Given the description of an element on the screen output the (x, y) to click on. 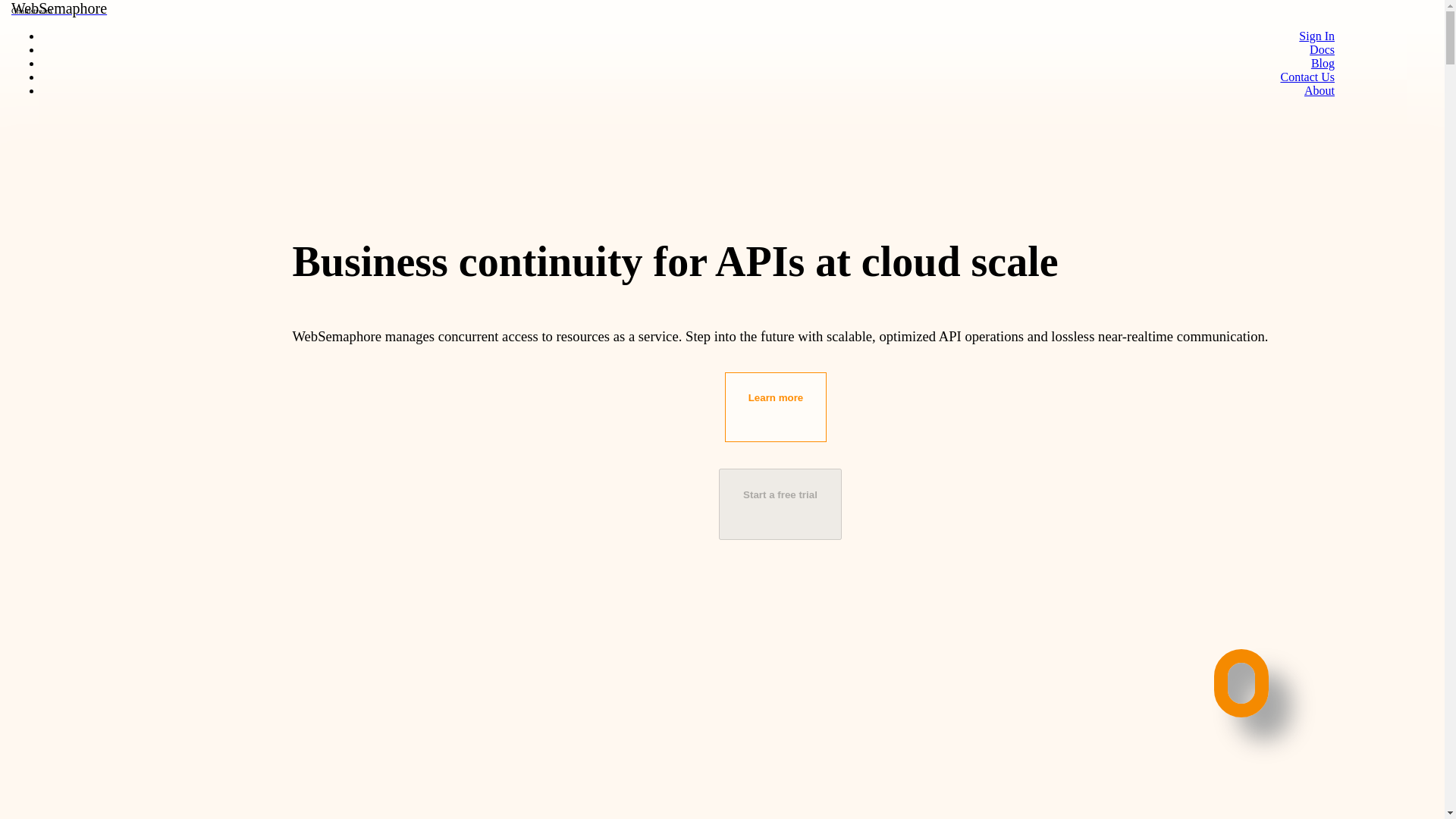
Docs (1321, 49)
Start a free trial (780, 503)
Blog (1323, 62)
About (1319, 90)
Learn more (776, 407)
Learn more (776, 388)
Contact Us (60, 9)
Sign In (1307, 76)
Start a free trial (1316, 35)
